Given the description of an element on the screen output the (x, y) to click on. 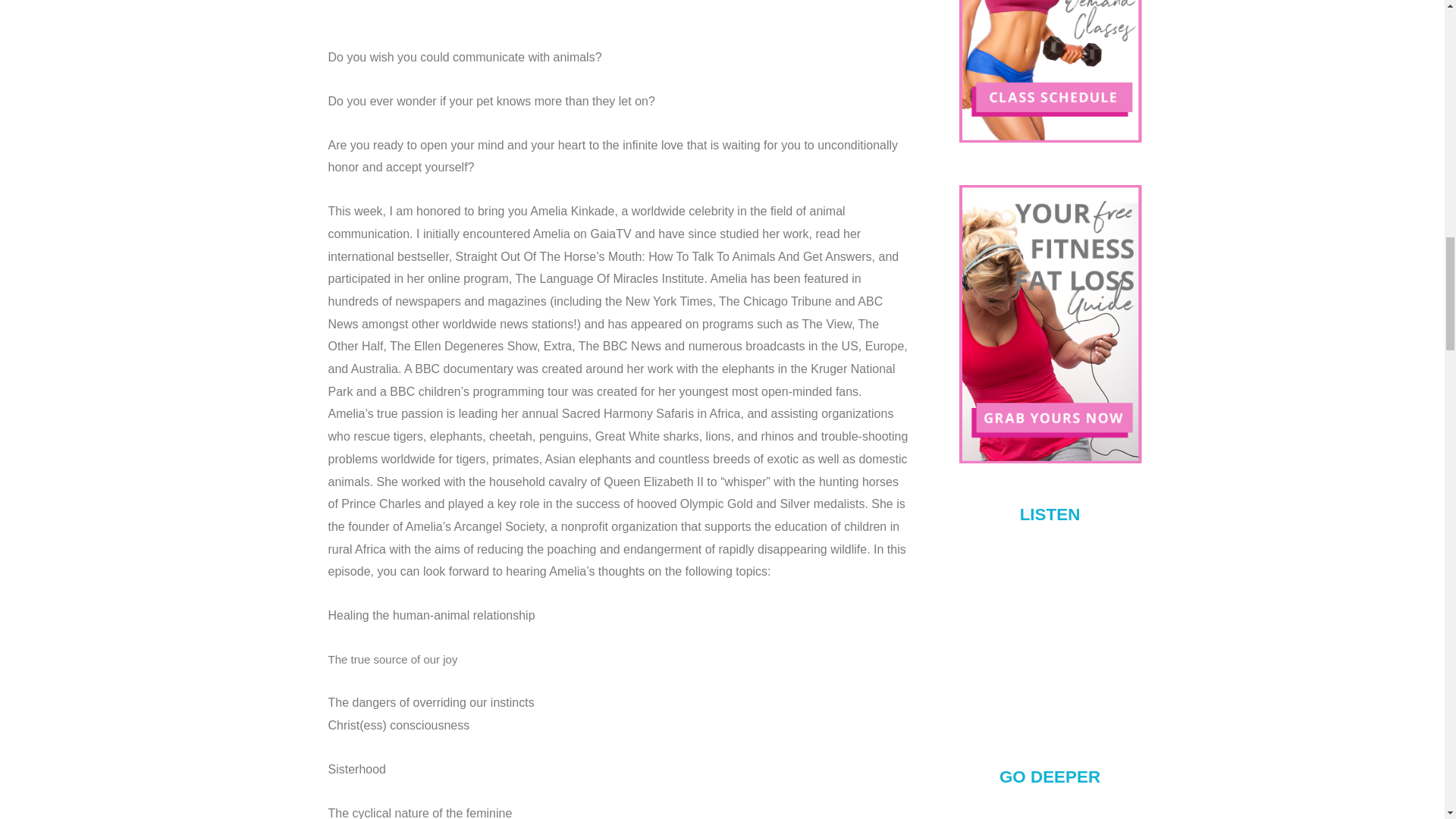
GET STARTED (1048, 73)
